Given the description of an element on the screen output the (x, y) to click on. 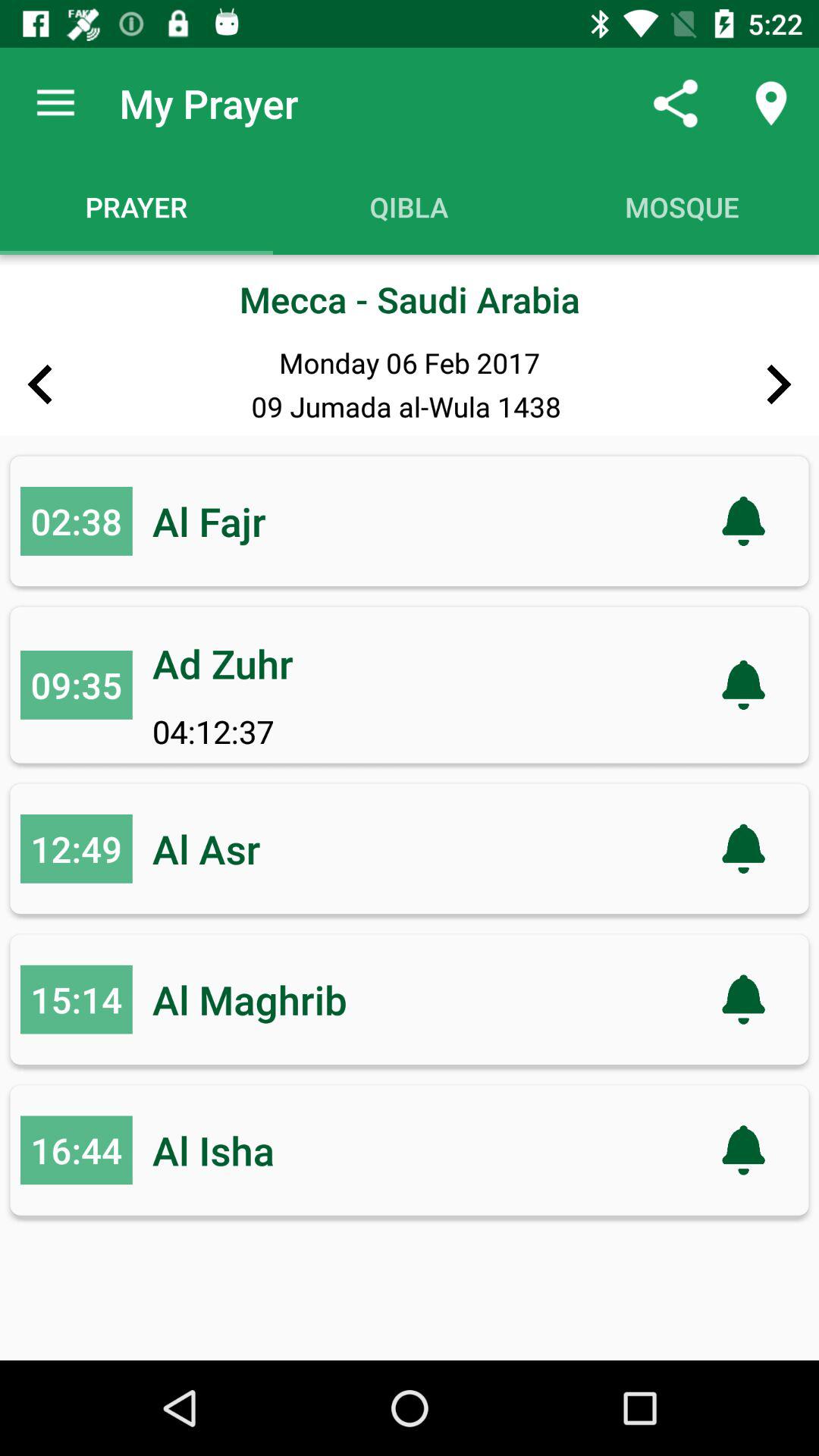
turn off app to the left of the my prayer icon (55, 103)
